Given the description of an element on the screen output the (x, y) to click on. 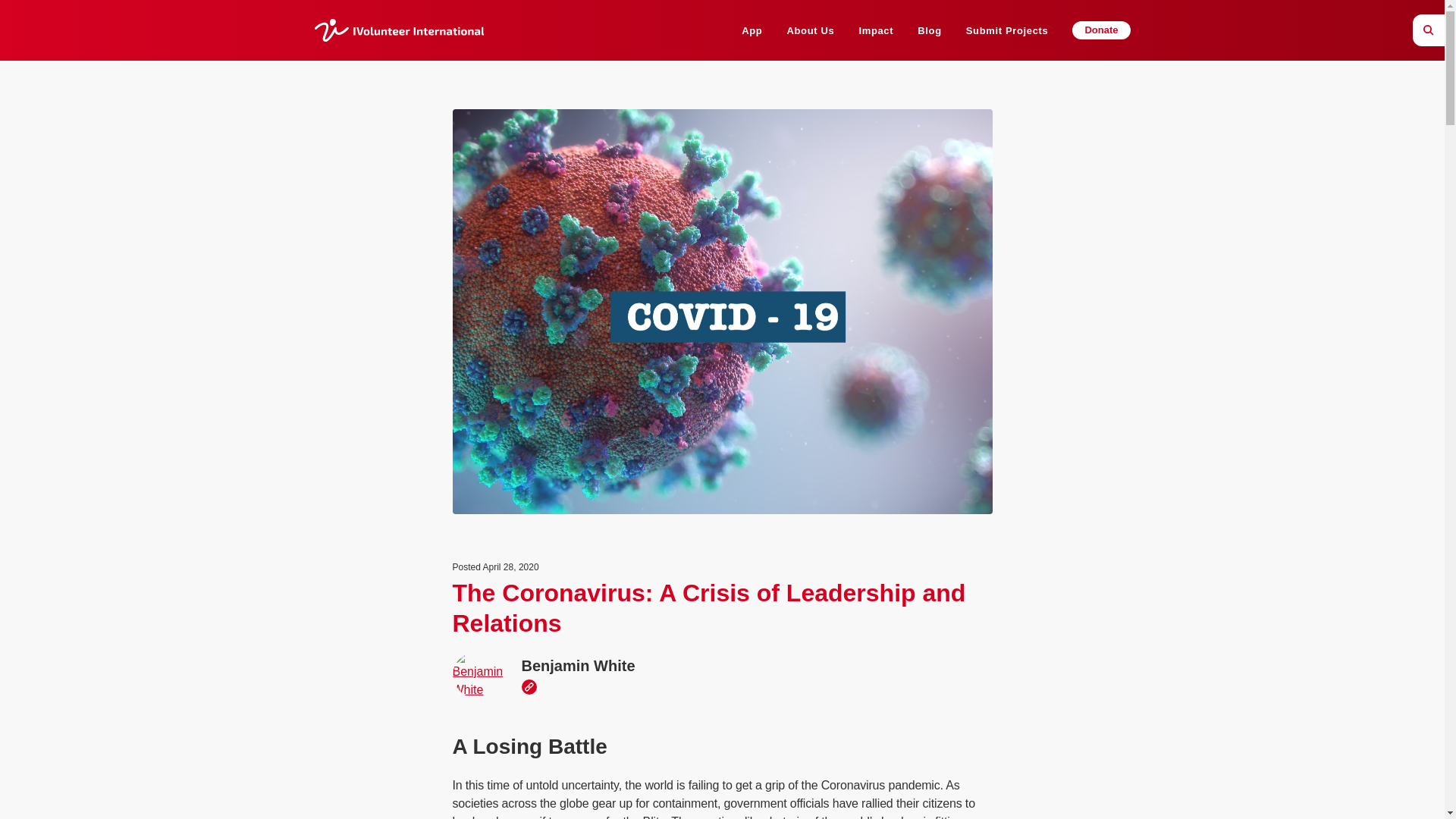
Donate (1100, 30)
Benjamin White (618, 665)
Blog (928, 30)
About Us (810, 30)
Submit Projects (1007, 30)
April 28, 2020 (510, 566)
Impact (876, 30)
App (751, 30)
